Given the description of an element on the screen output the (x, y) to click on. 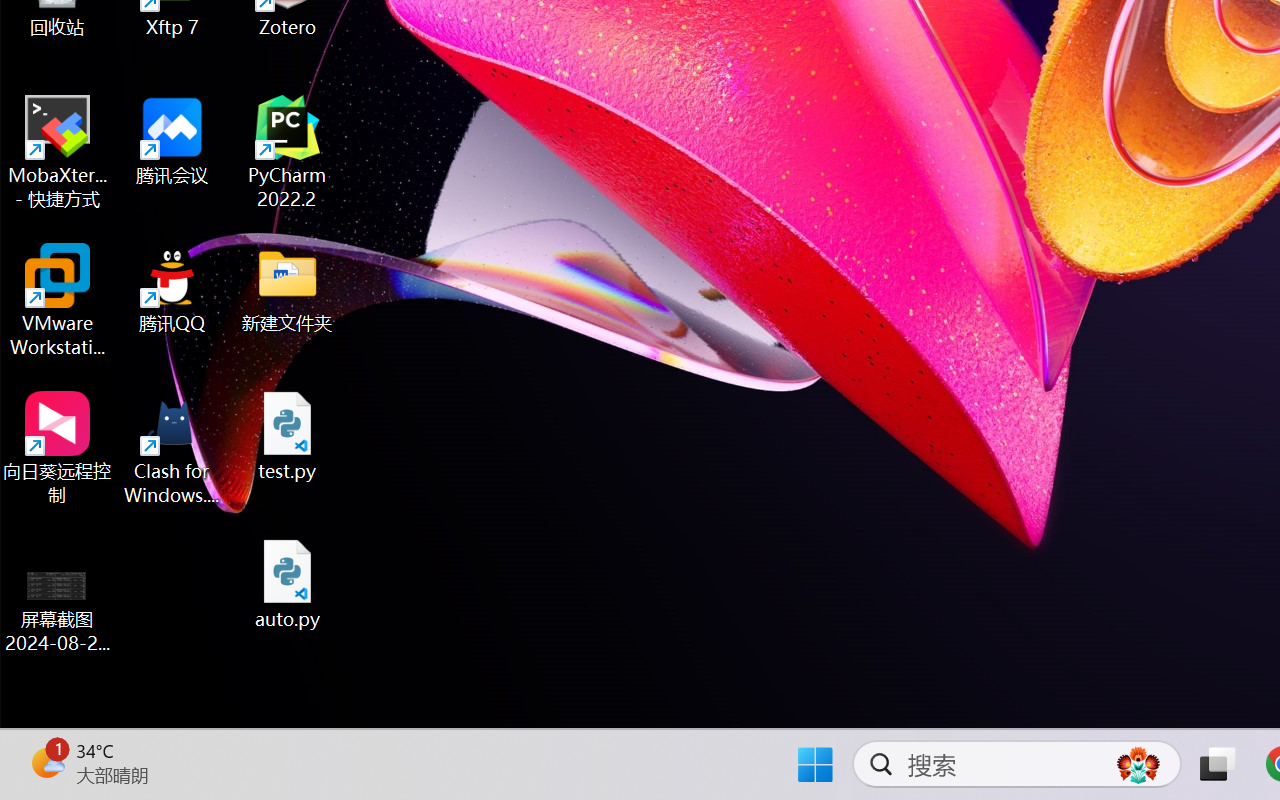
auto.py (287, 584)
VMware Workstation Pro (57, 300)
PyCharm 2022.2 (287, 152)
test.py (287, 436)
